Given the description of an element on the screen output the (x, y) to click on. 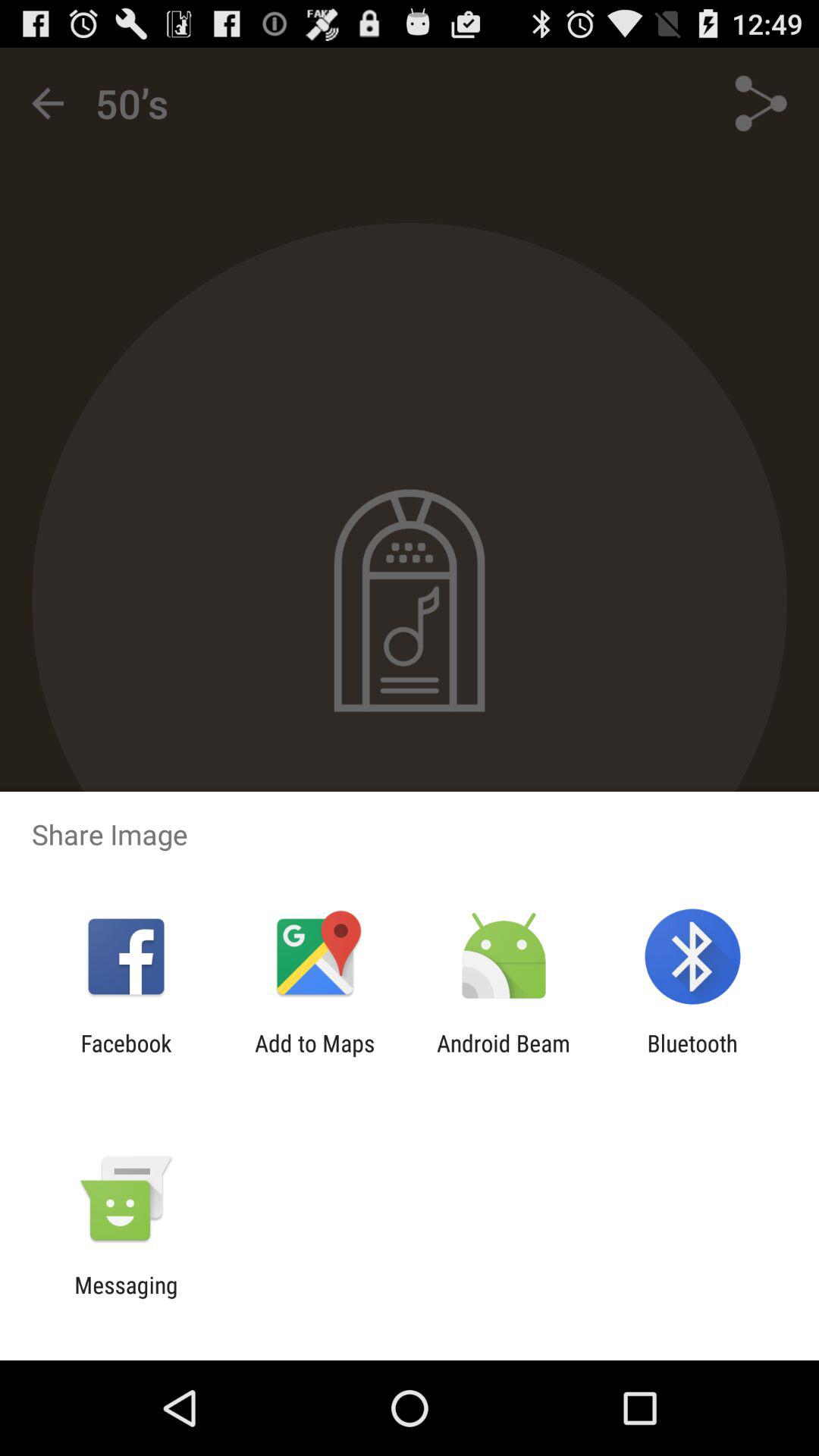
choose the app next to facebook (314, 1056)
